Given the description of an element on the screen output the (x, y) to click on. 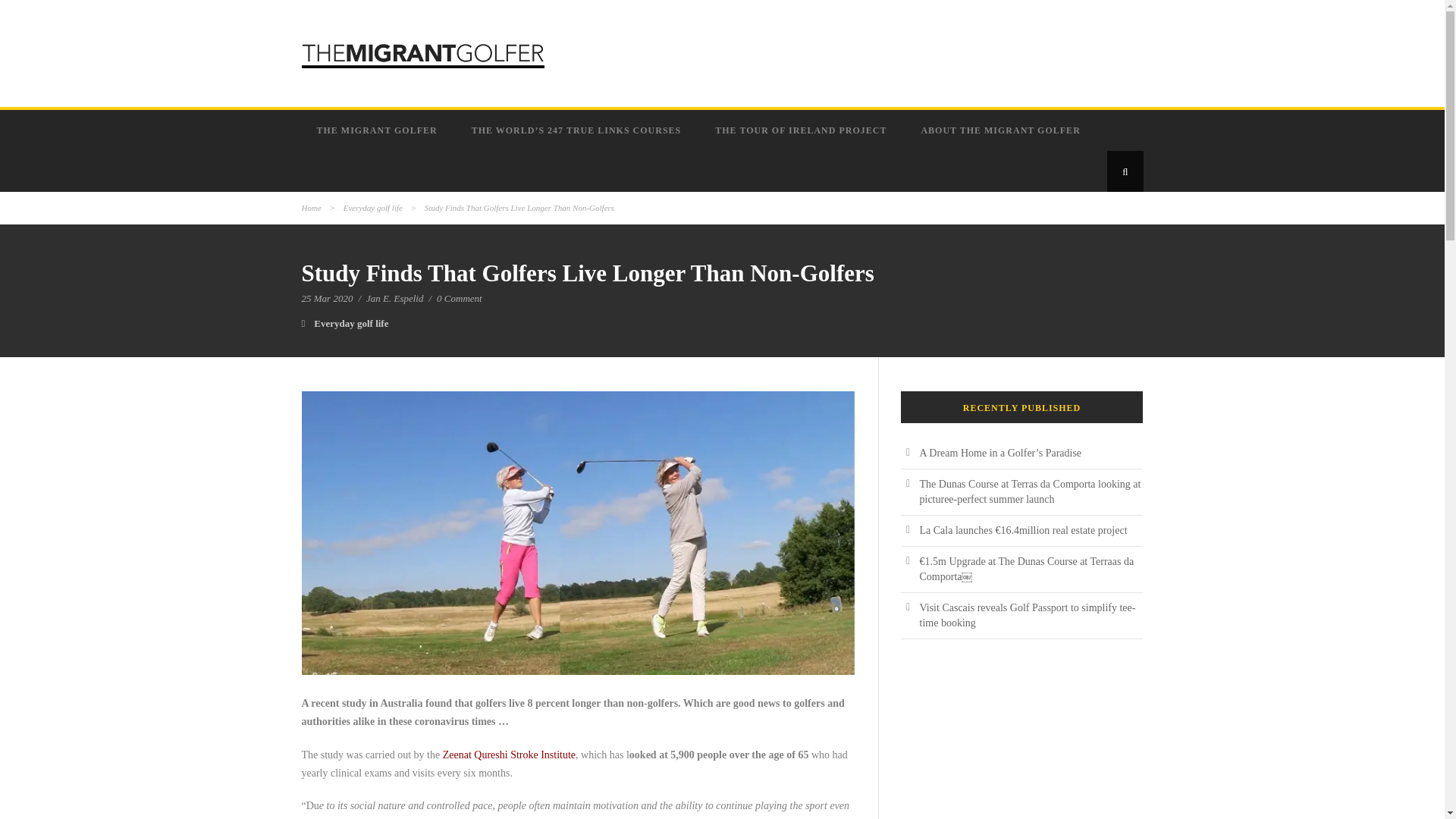
THE TOUR OF IRELAND PROJECT (802, 129)
ABOUT THE MIGRANT GOLFER (1002, 129)
Posts by Jan E. Espelid (394, 297)
Home (311, 207)
Everyday golf life (351, 323)
Everyday golf life (373, 207)
Zeenat Qureshi Stroke Institute (508, 754)
